Given the description of an element on the screen output the (x, y) to click on. 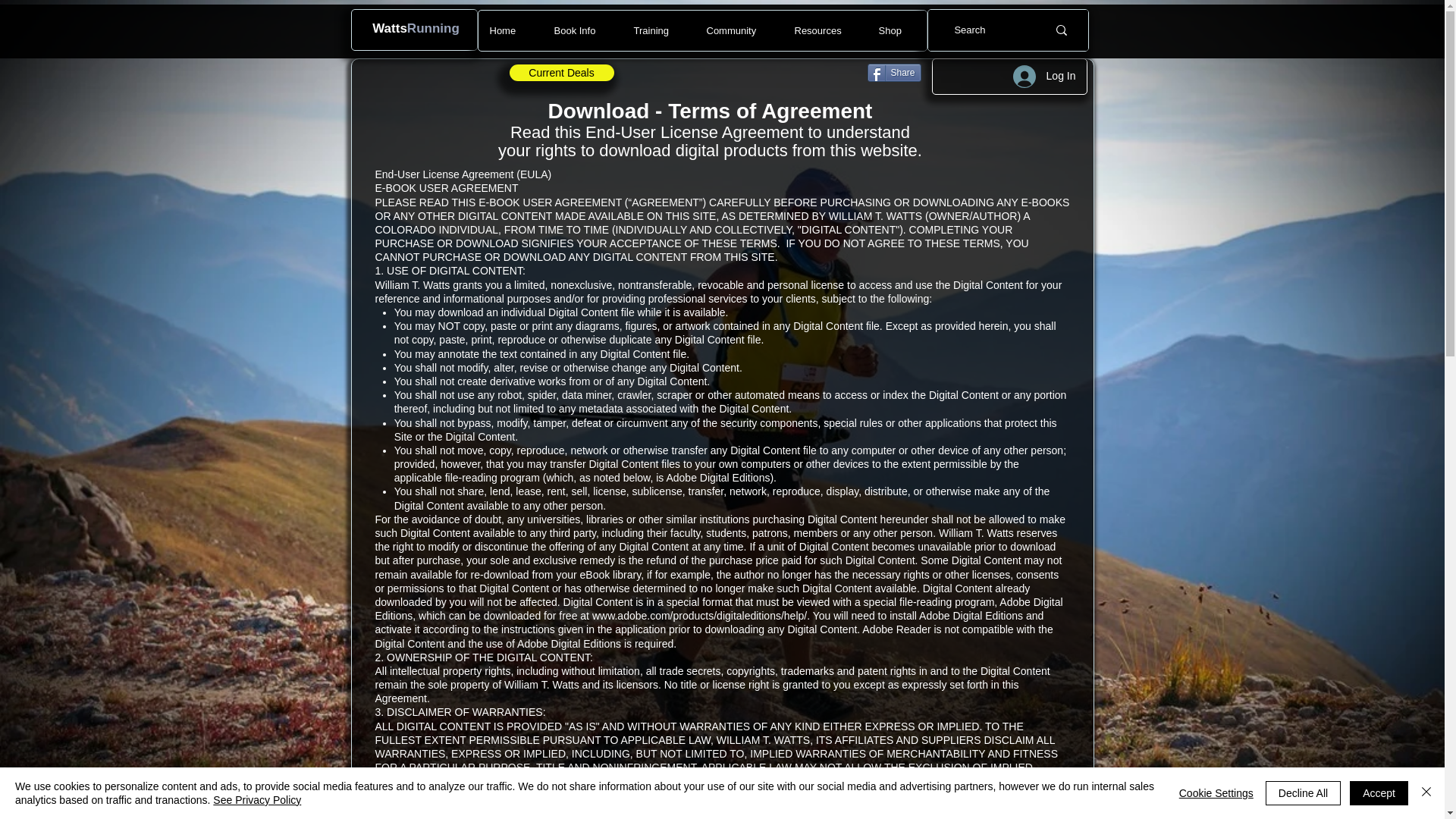
Home (509, 30)
WattsRunning (416, 28)
Share (894, 72)
Shop (896, 30)
